Given the description of an element on the screen output the (x, y) to click on. 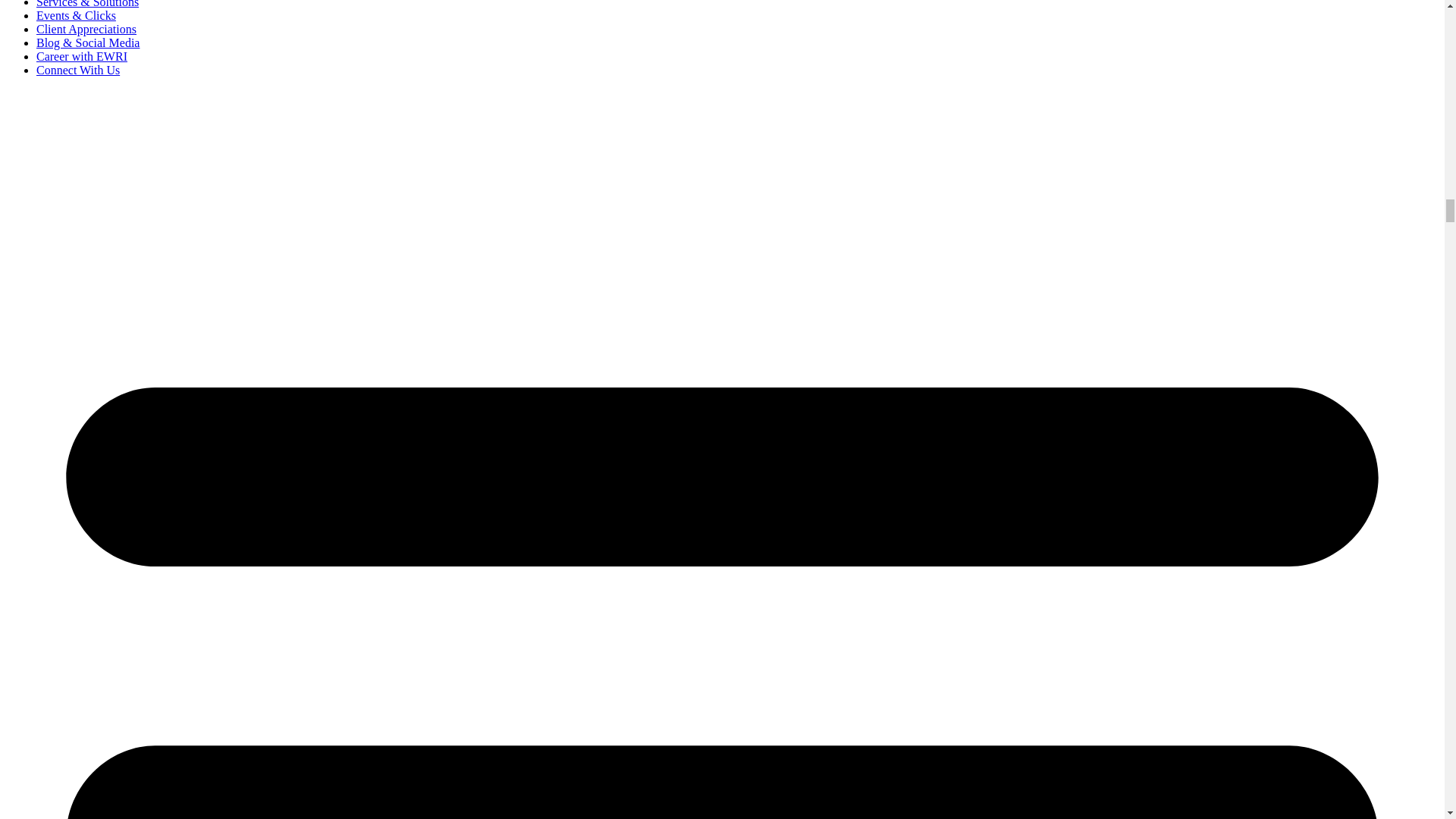
Connect With Us (77, 69)
Career with EWRI (82, 56)
Client Appreciations (86, 29)
